Given the description of an element on the screen output the (x, y) to click on. 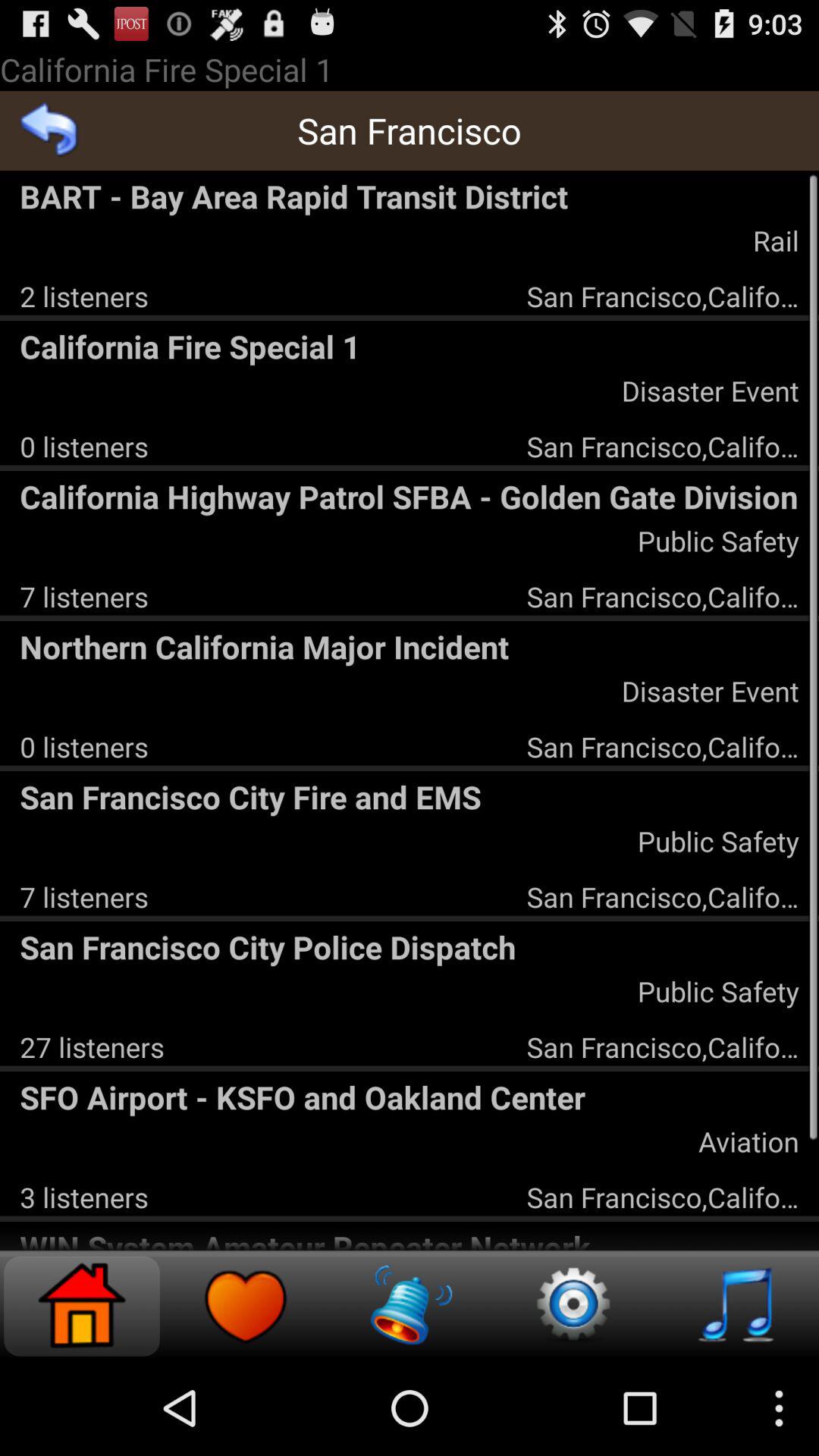
jump until the rail app (776, 240)
